Given the description of an element on the screen output the (x, y) to click on. 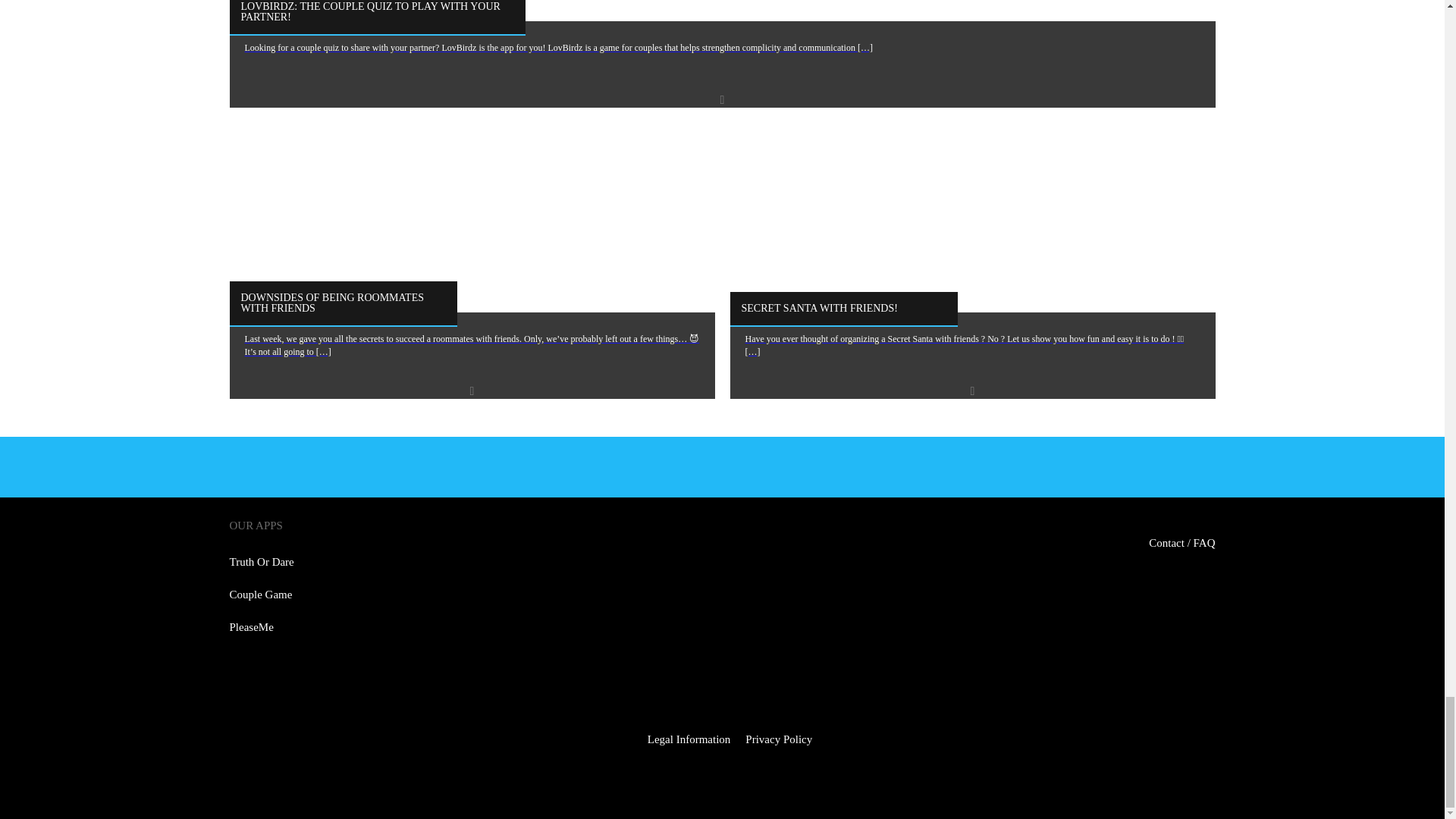
Couple Game (260, 594)
Truth Or Dare (261, 561)
